Given the description of an element on the screen output the (x, y) to click on. 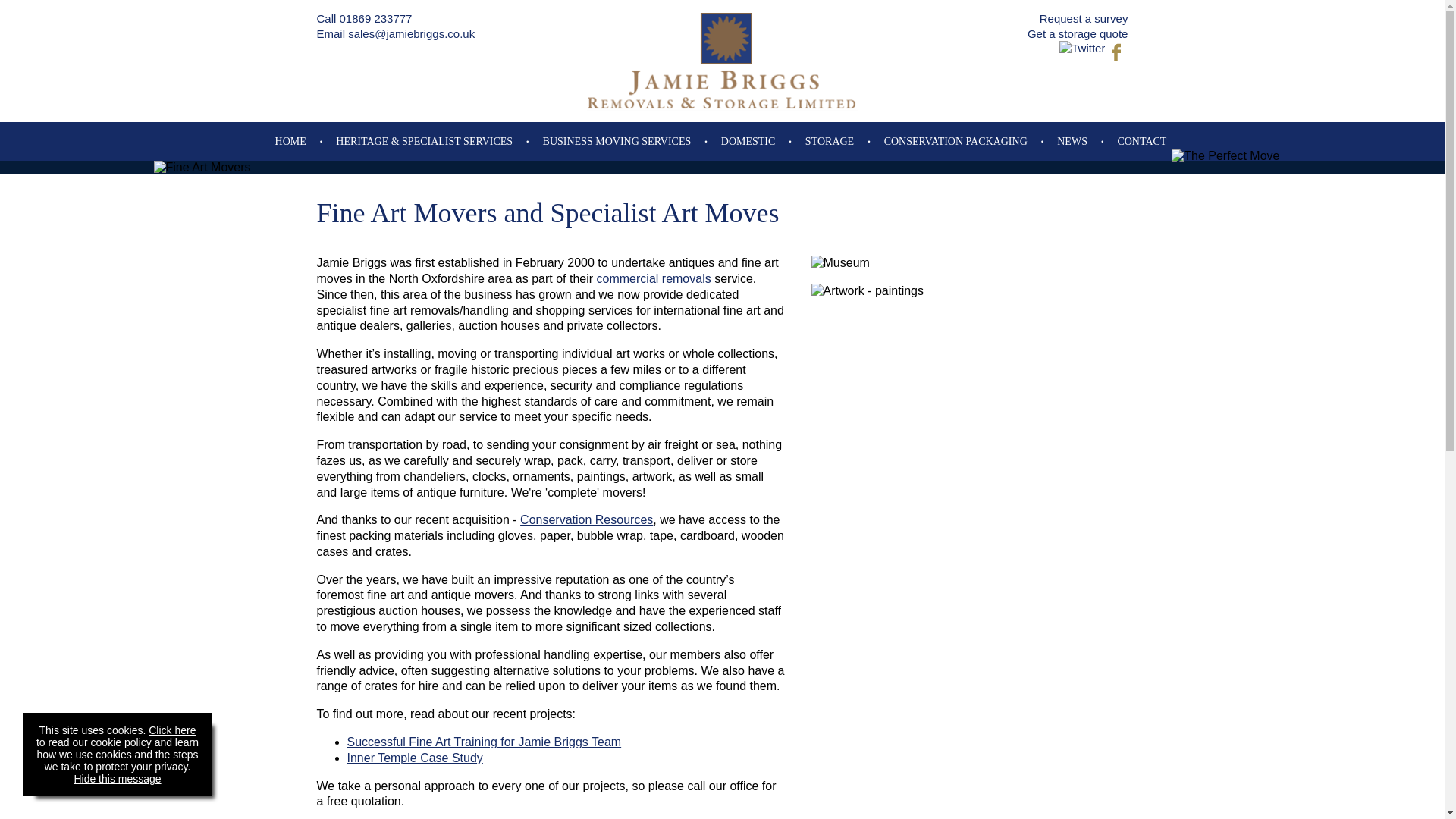
Hide this message (117, 778)
Click here (171, 729)
Get a storage quote (1077, 33)
Request a survey (1083, 18)
